Given the description of an element on the screen output the (x, y) to click on. 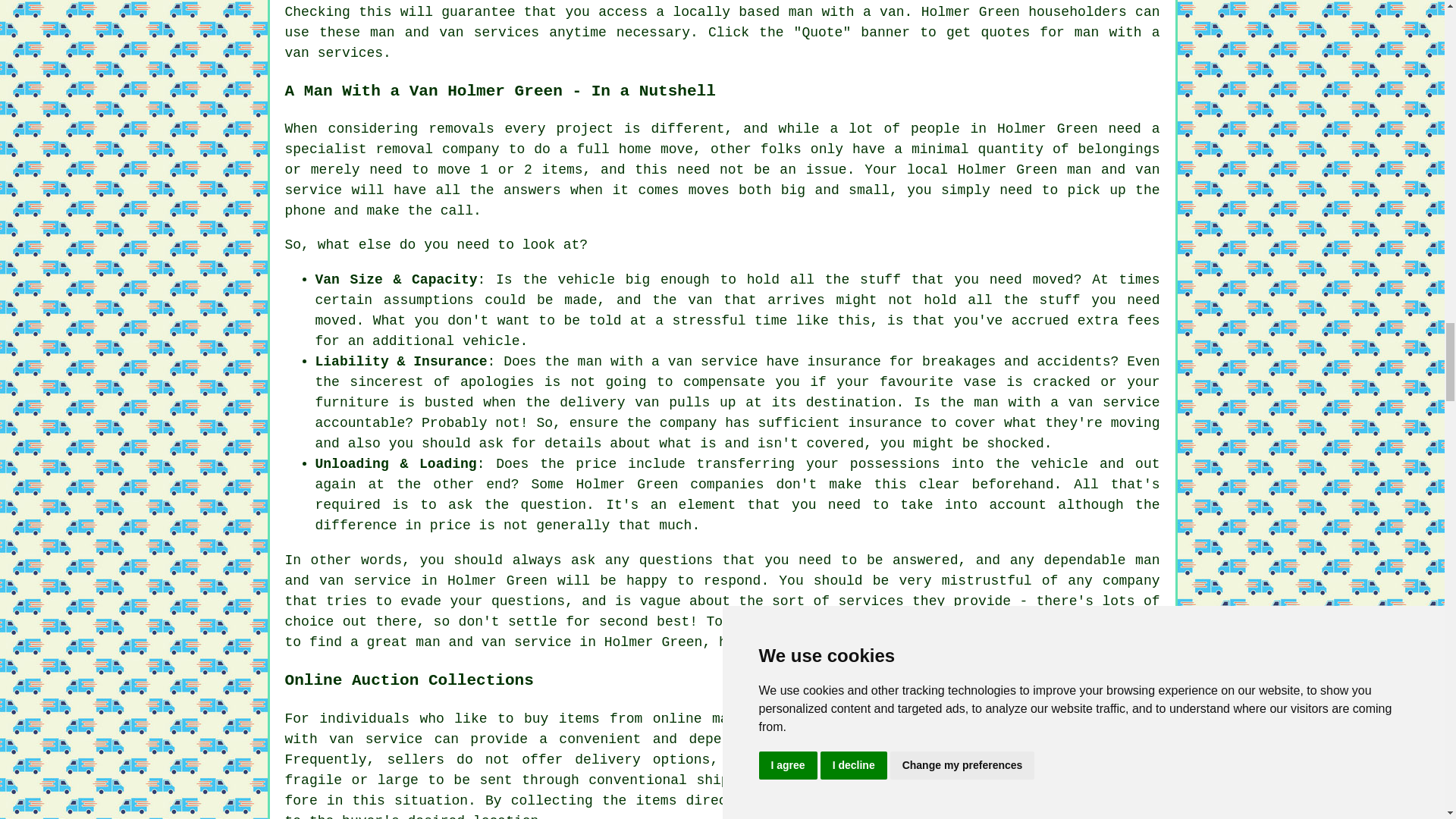
man with van service (722, 728)
man with a van (846, 11)
